Given the description of an element on the screen output the (x, y) to click on. 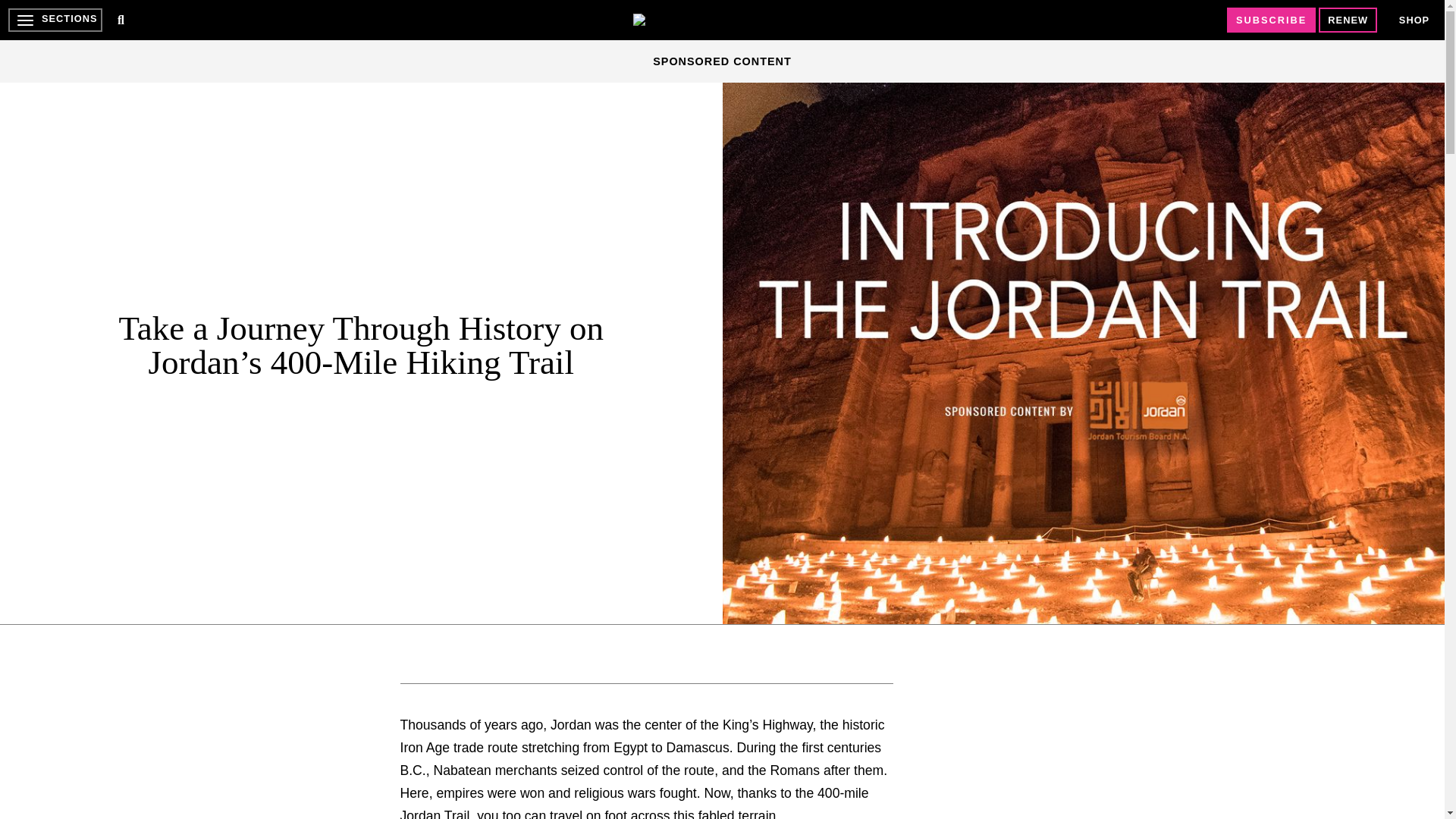
SUBSCRIBE (1271, 19)
SHOP (1413, 19)
SHOP (1414, 19)
RENEW (1347, 19)
RENEW (1348, 19)
SECTIONS (55, 19)
SUBSCRIBE (1271, 19)
